Given the description of an element on the screen output the (x, y) to click on. 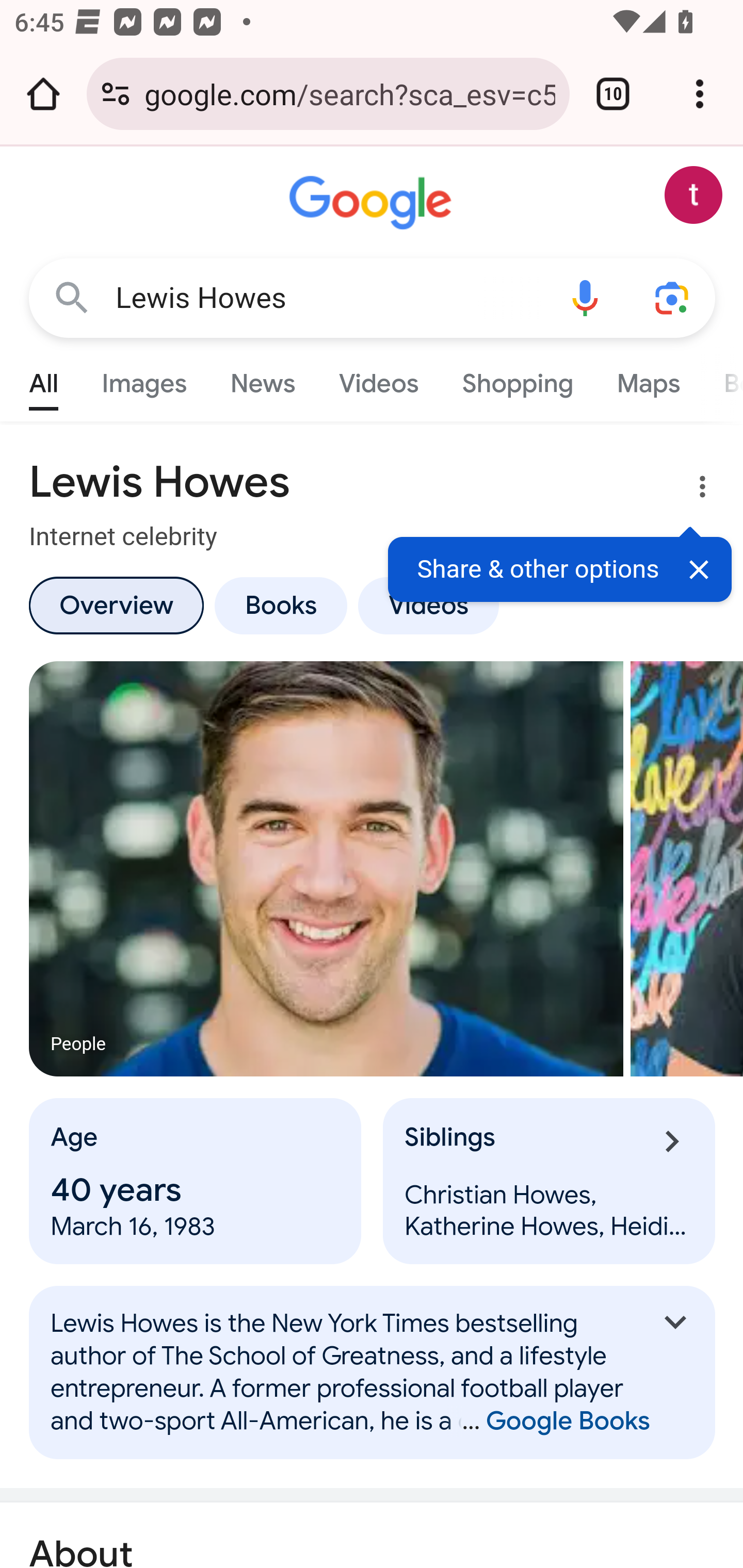
Open the home page (43, 93)
Connection is secure (115, 93)
Switch or close tabs (612, 93)
Customize and control Google Chrome (699, 93)
Google (372, 203)
Google Search (71, 296)
Search using your camera or photos (672, 296)
Lewis Howes (328, 297)
Images (144, 378)
News (262, 378)
Videos (378, 378)
Shopping (516, 378)
Maps (647, 378)
More options (690, 489)
Close (698, 574)
Overview (116, 605)
Books (280, 605)
Google Books (548, 1420)
